Given the description of an element on the screen output the (x, y) to click on. 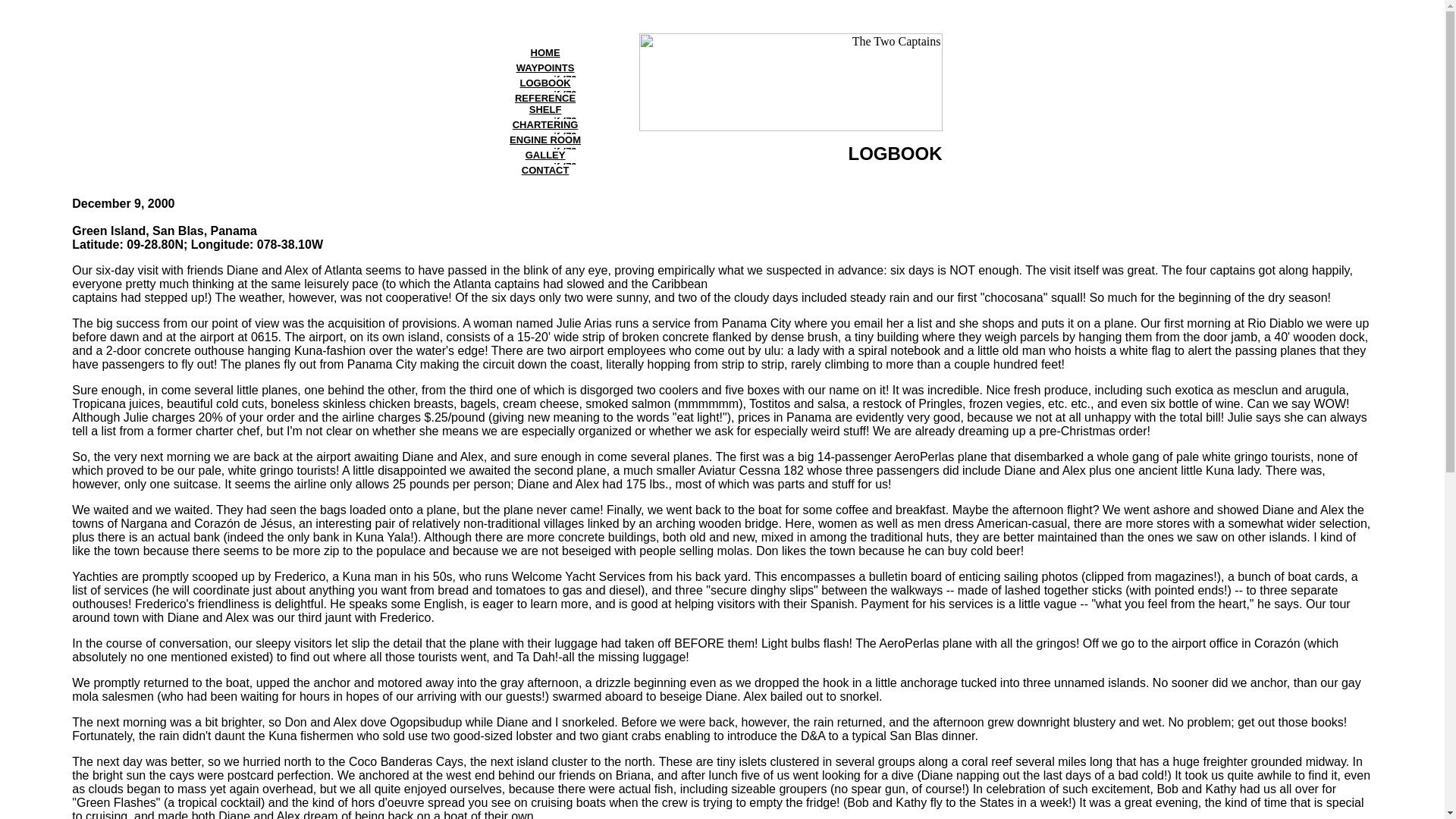
CONTACT (545, 170)
WAYPOINTS (545, 67)
CHARTERING (545, 124)
LOGBOOK (544, 82)
HOME (545, 52)
GALLEY (545, 154)
ENGINE ROOM (544, 139)
REFERENCE SHELF (545, 103)
